Given the description of an element on the screen output the (x, y) to click on. 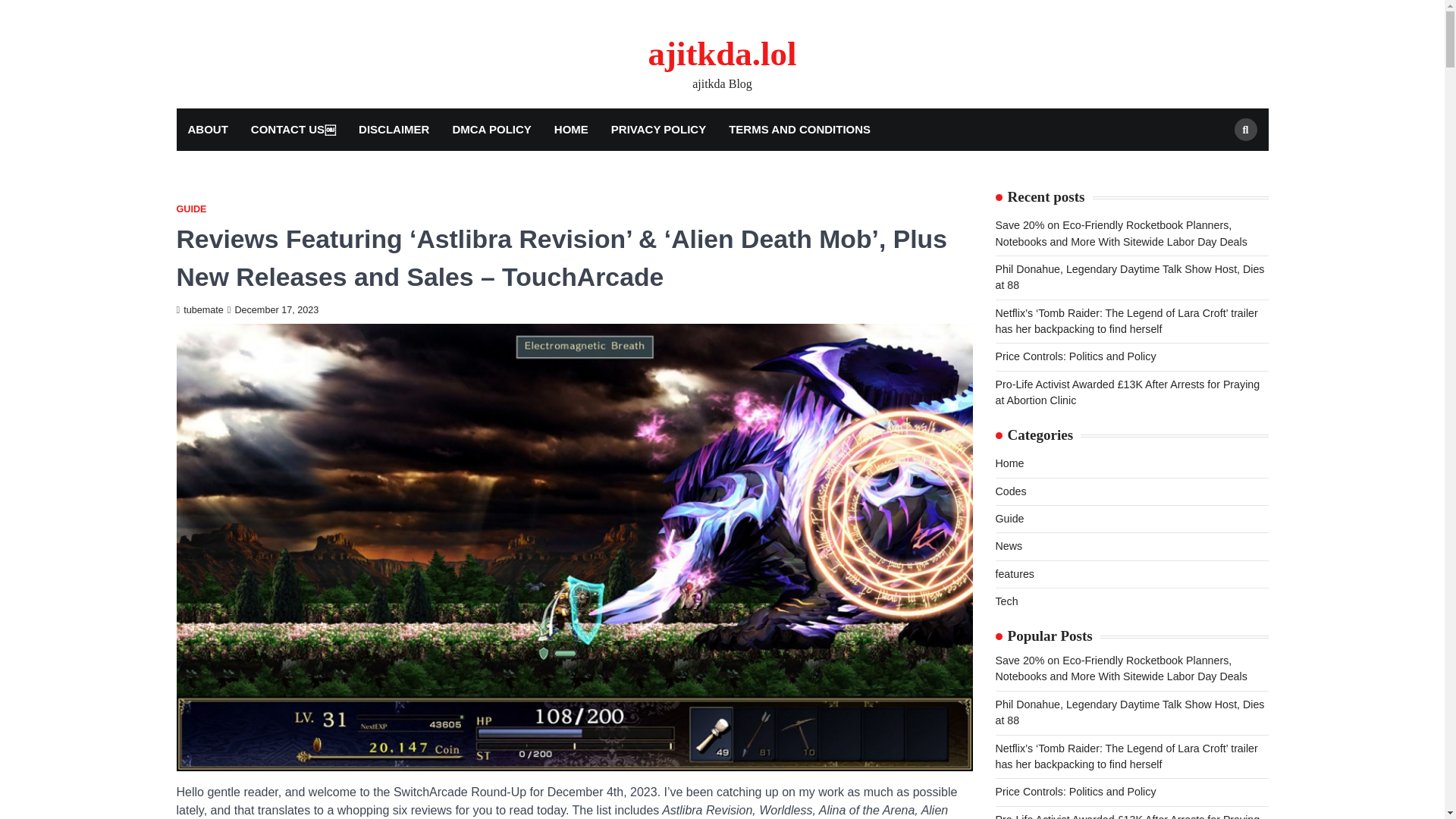
Price Controls: Politics and Policy (1075, 356)
PRIVACY POLICY (658, 129)
DISCLAIMER (394, 129)
GUIDE (191, 209)
Search (1217, 165)
Search (1245, 128)
Home (1008, 463)
features (1013, 573)
DMCA POLICY (491, 129)
HOME (571, 129)
